Given the description of an element on the screen output the (x, y) to click on. 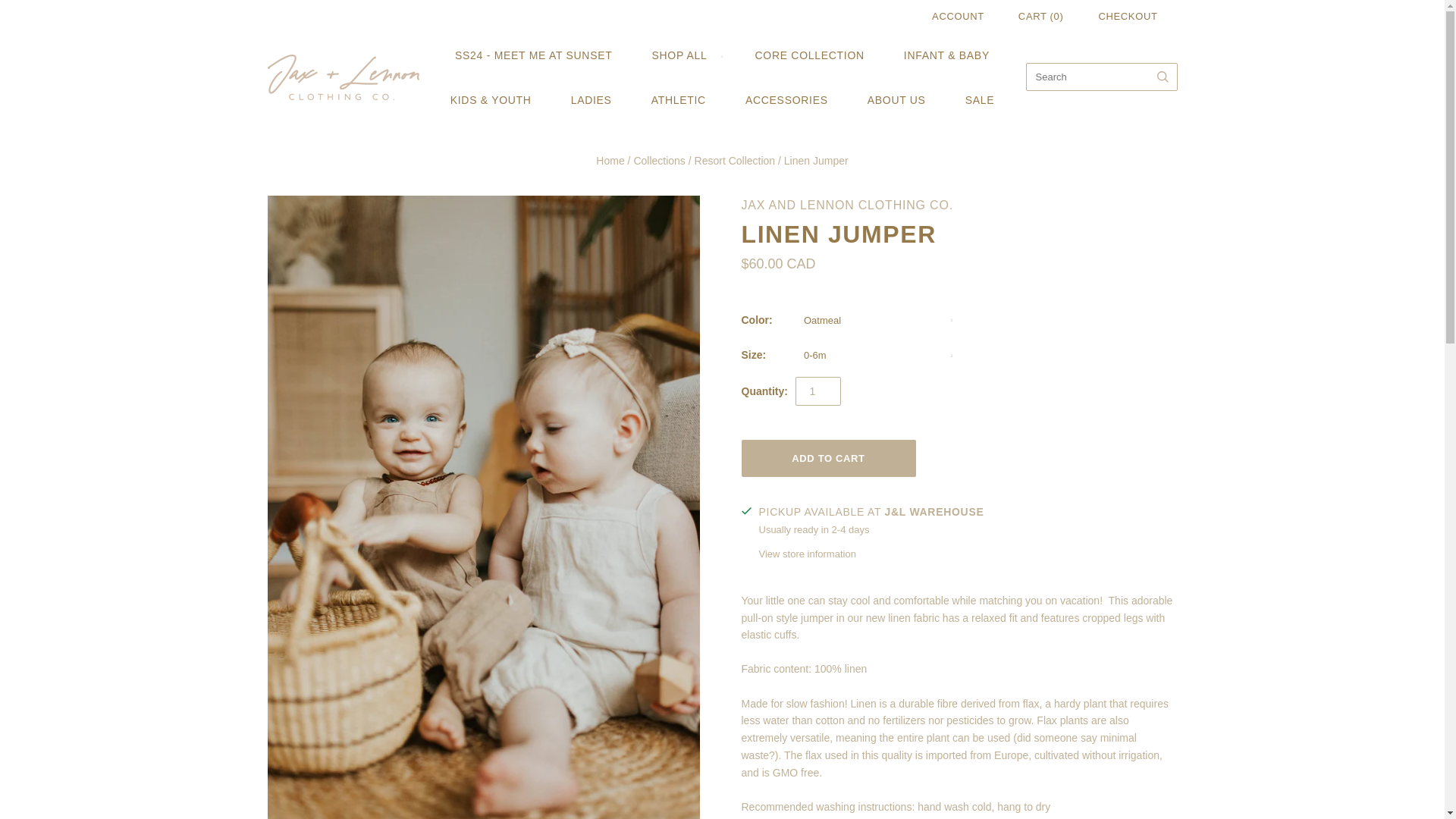
ACCESSORIES (786, 99)
1 (817, 390)
ATHLETIC (678, 99)
Add to cart (828, 457)
ACCOUNT (957, 16)
SALE (979, 99)
CORE COLLECTION (809, 55)
LADIES (591, 99)
ABOUT US (895, 99)
SS24 - MEET ME AT SUNSET (533, 55)
